Given the description of an element on the screen output the (x, y) to click on. 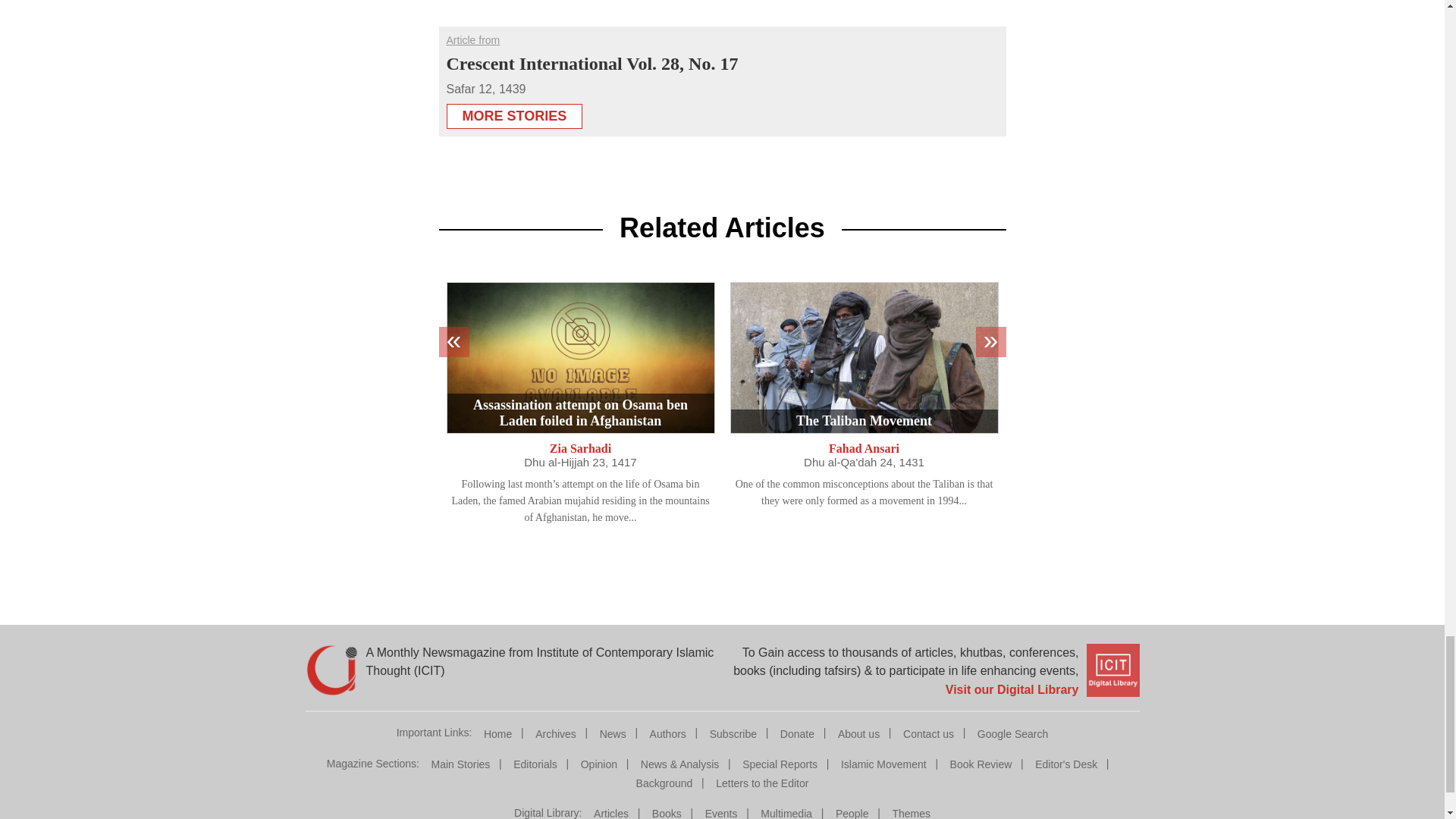
MORE STORIES (513, 116)
MORE STORIES (513, 111)
